Given the description of an element on the screen output the (x, y) to click on. 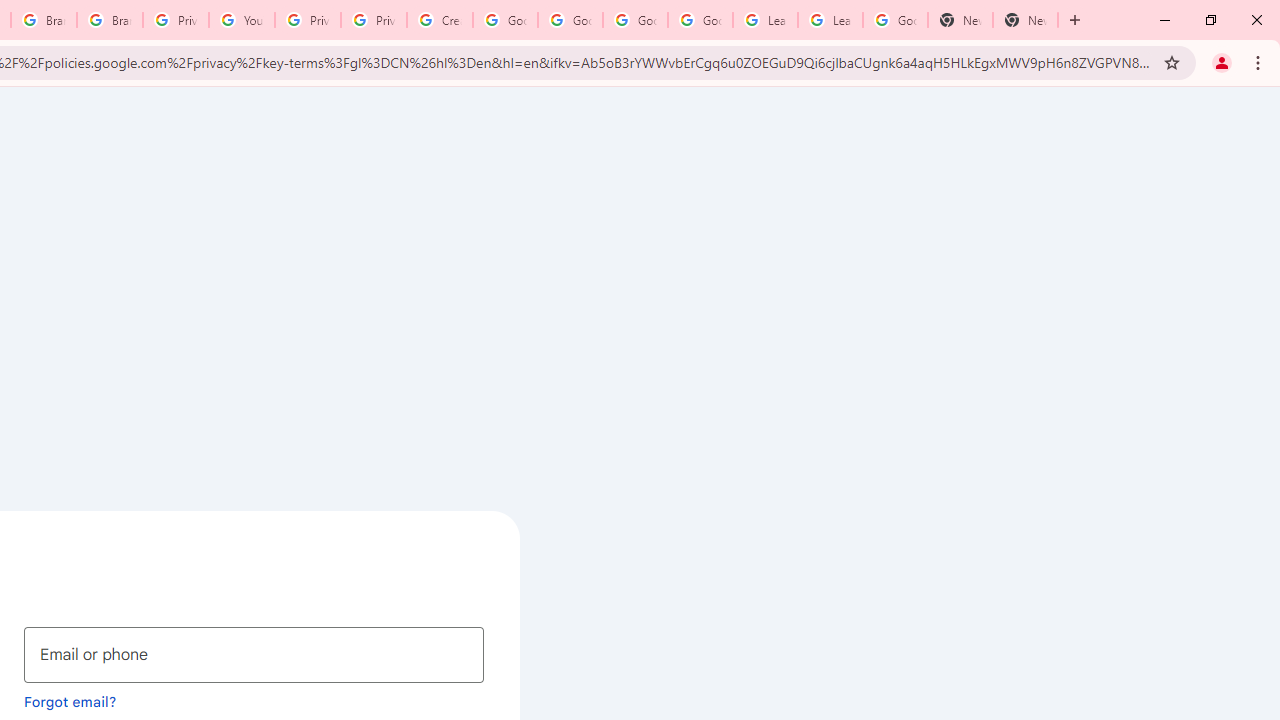
Brand Resource Center (43, 20)
Google Account Help (635, 20)
Google Account Help (700, 20)
Google Account Help (569, 20)
Forgot email? (70, 701)
New Tab (960, 20)
